Given the description of an element on the screen output the (x, y) to click on. 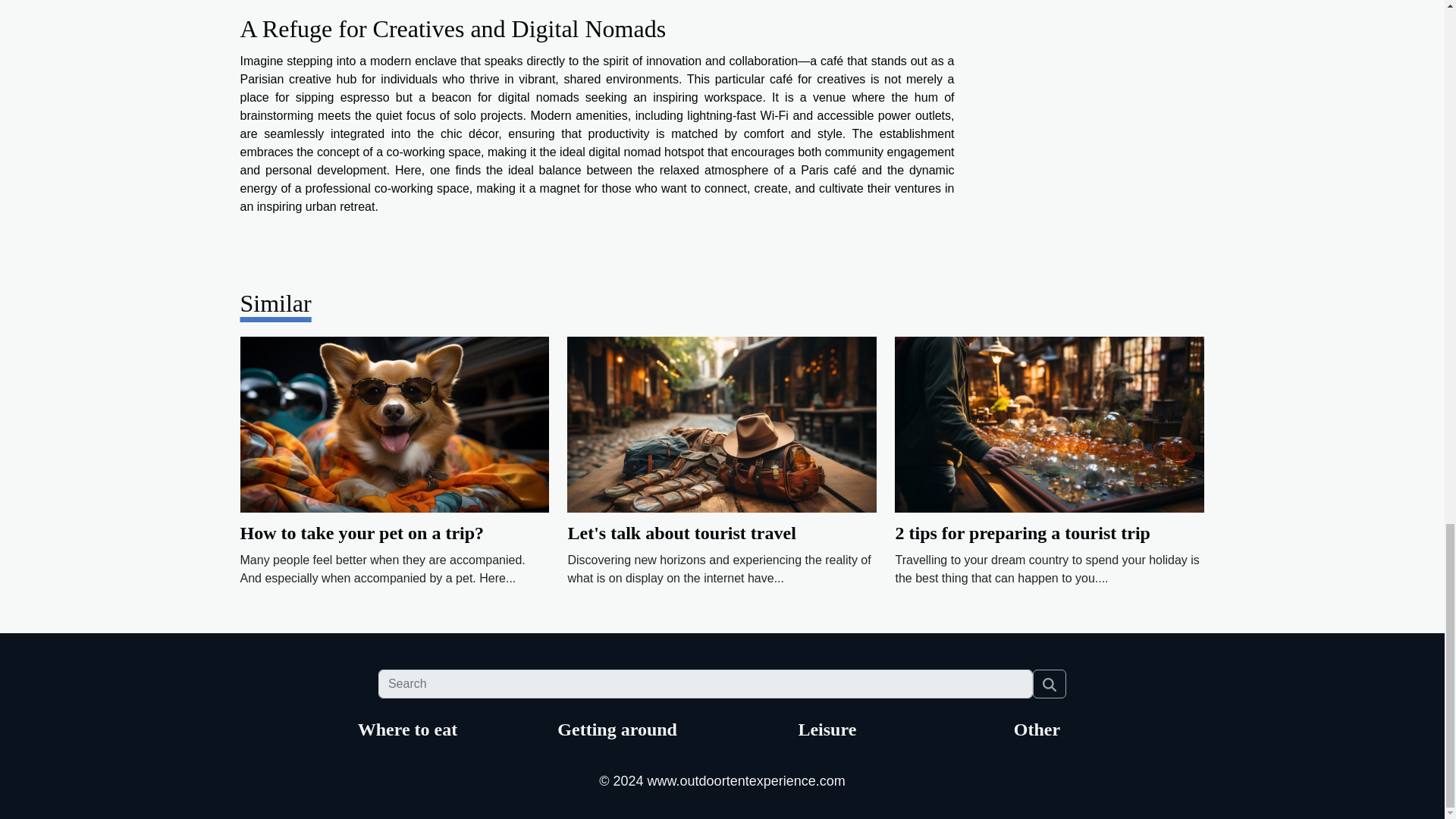
Leisure (826, 729)
Other (1036, 729)
2 tips for preparing a tourist trip (1022, 532)
Let's talk about tourist travel (680, 532)
Getting around (617, 729)
Where to eat (408, 729)
How to take your pet on a trip? (361, 532)
How to take your pet on a trip? (394, 422)
Getting around (617, 729)
2 tips for preparing a tourist trip (1049, 422)
